Given the description of an element on the screen output the (x, y) to click on. 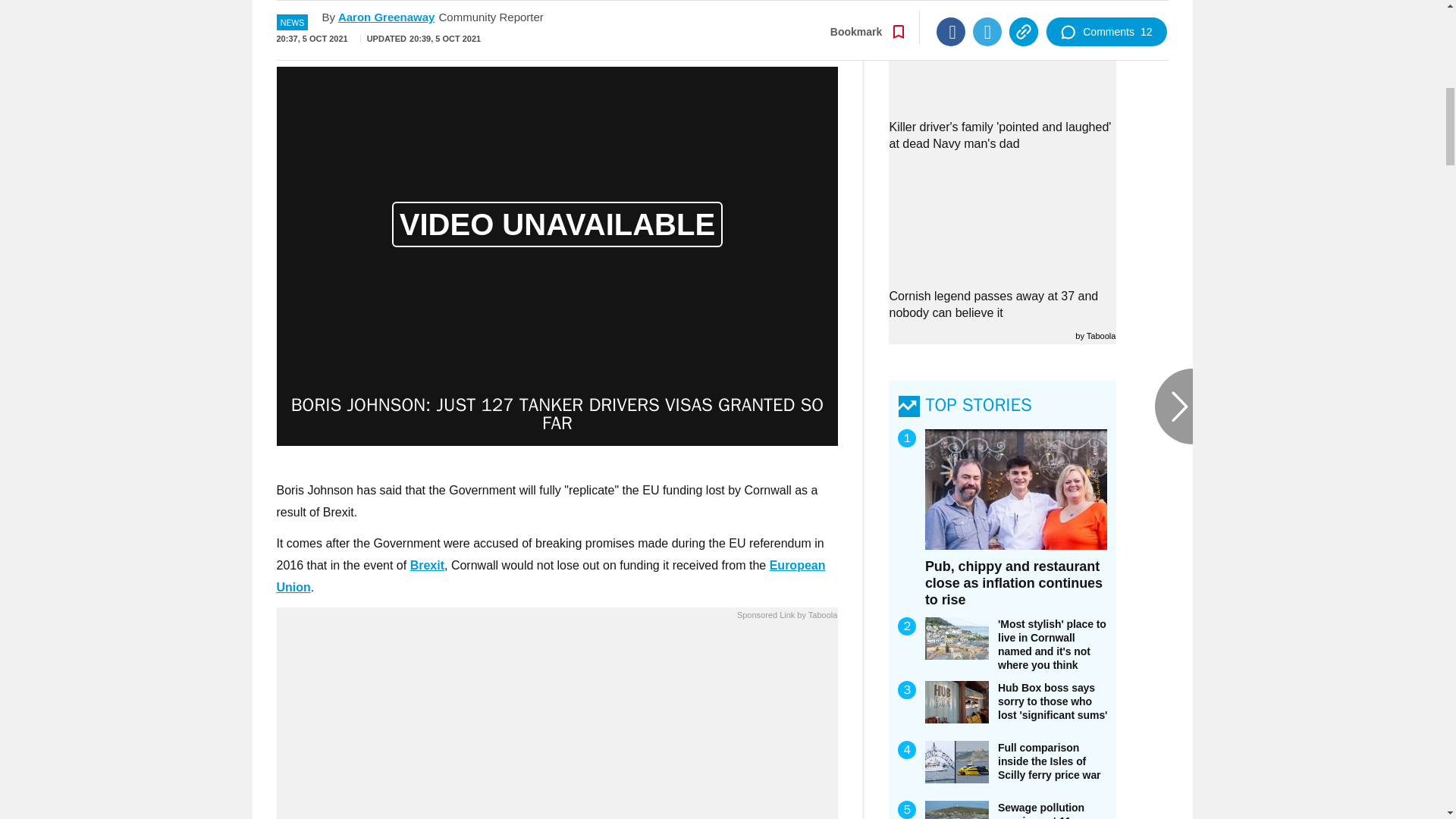
Go (730, 17)
Call Attention With These Decorative Lamps From Foscarini (557, 724)
